Given the description of an element on the screen output the (x, y) to click on. 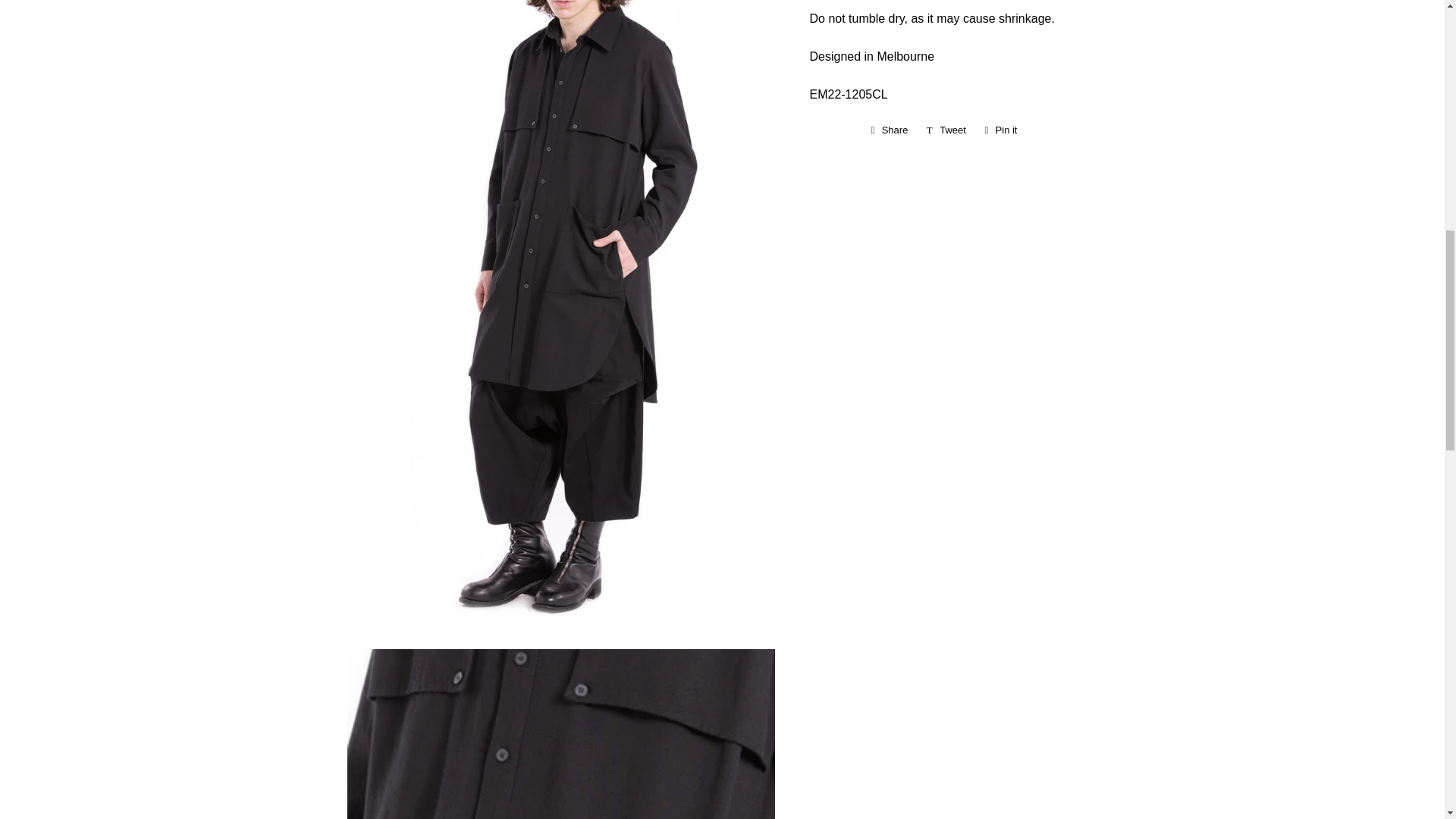
Pin on Pinterest (1000, 129)
Tweet on Twitter (946, 129)
Share on Facebook (889, 129)
